Given the description of an element on the screen output the (x, y) to click on. 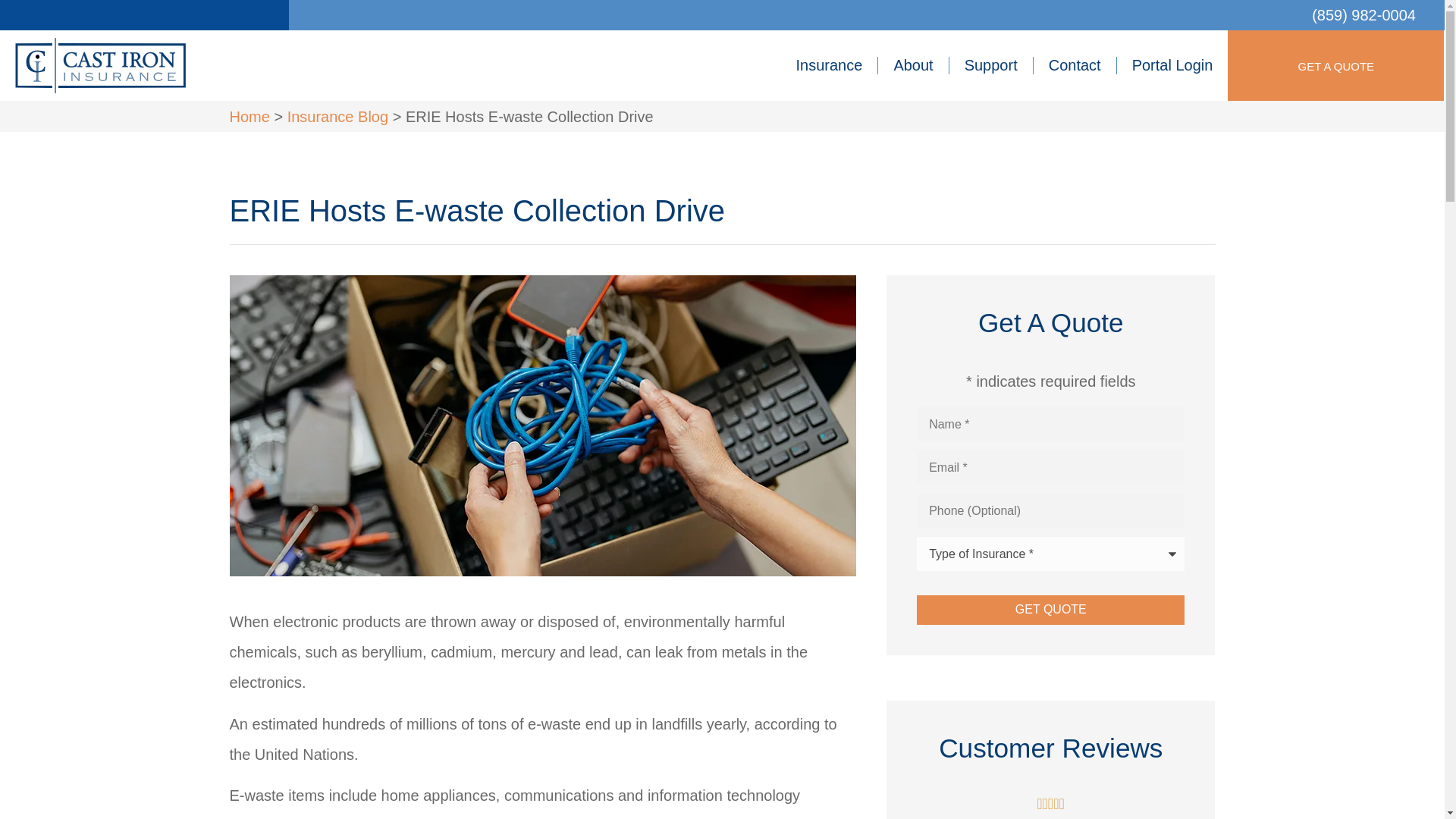
About (912, 65)
Support (990, 65)
Insurance (828, 65)
Get Quote (1051, 609)
Portal Login (1172, 65)
Contact (1074, 65)
